Given the description of an element on the screen output the (x, y) to click on. 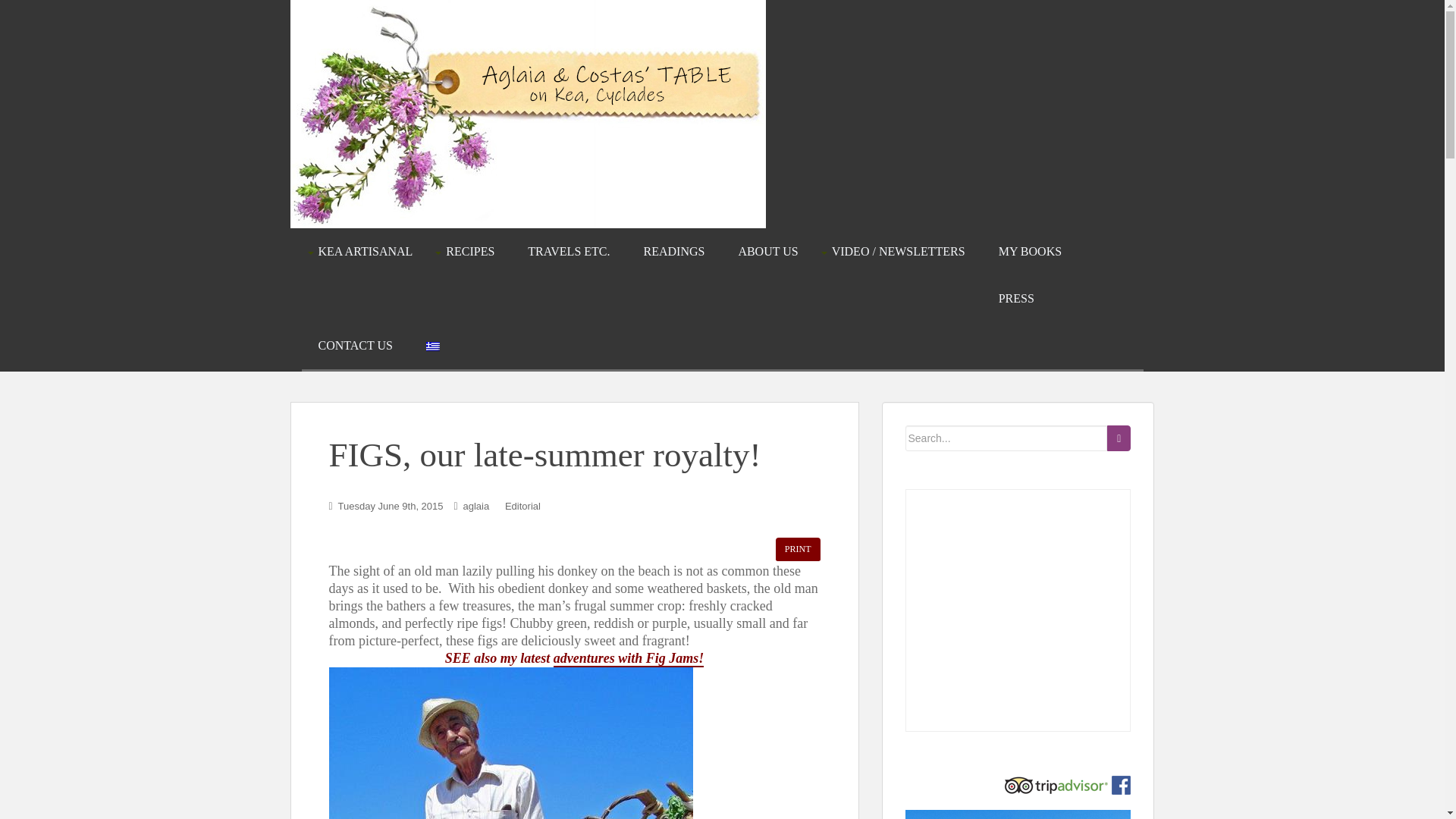
KEA ARTISANAL (364, 251)
CONTACT US (354, 345)
ABOUT US (767, 251)
Tuesday June 9th, 2015 (390, 505)
PRINT (798, 549)
aglaia (476, 505)
RECIPES (470, 251)
TRAVELS ETC. (568, 251)
MY BOOKS (1030, 251)
Editorial (522, 505)
